Given the description of an element on the screen output the (x, y) to click on. 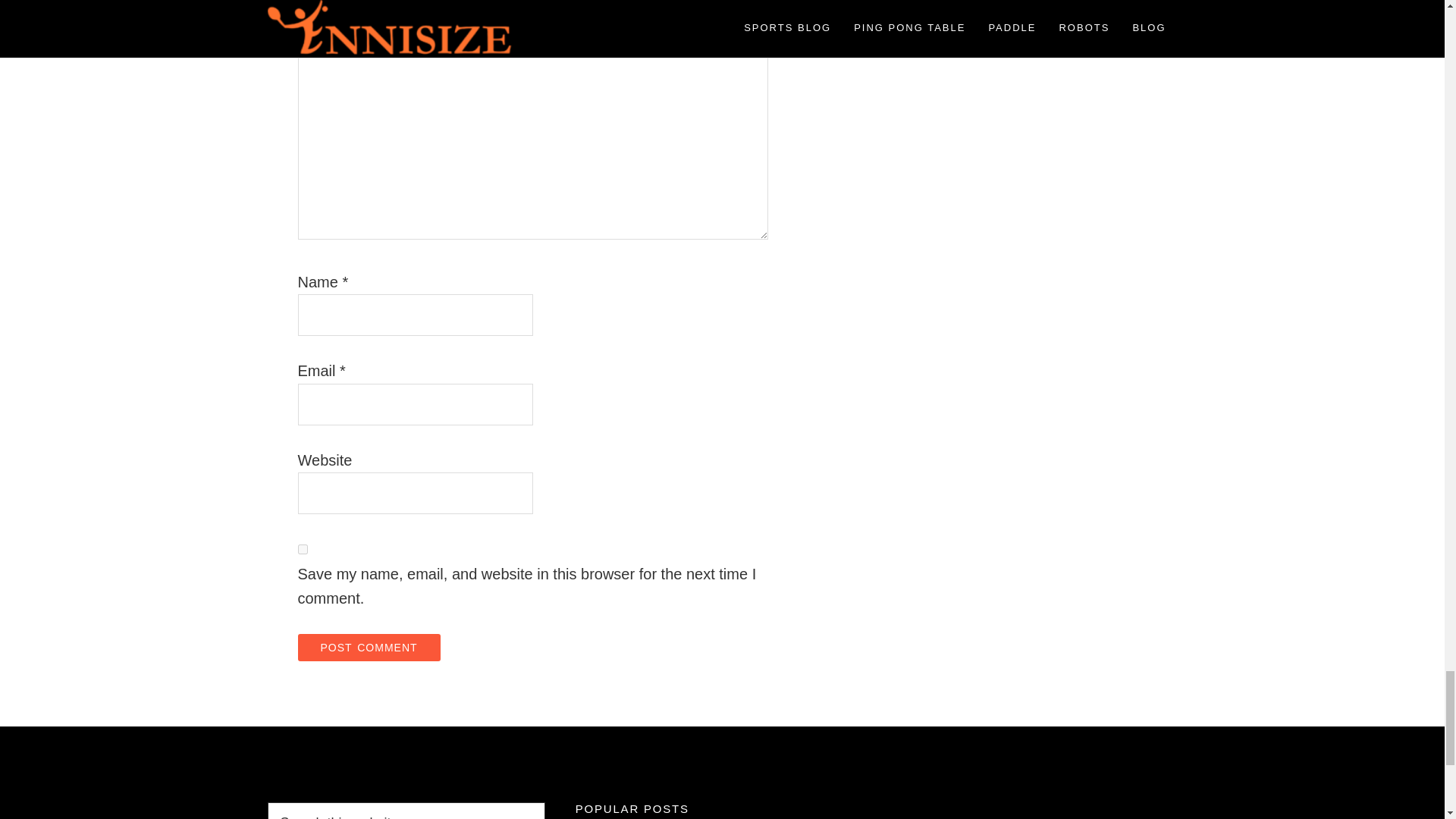
Post Comment (368, 646)
Post Comment (368, 646)
yes (302, 549)
